Given the description of an element on the screen output the (x, y) to click on. 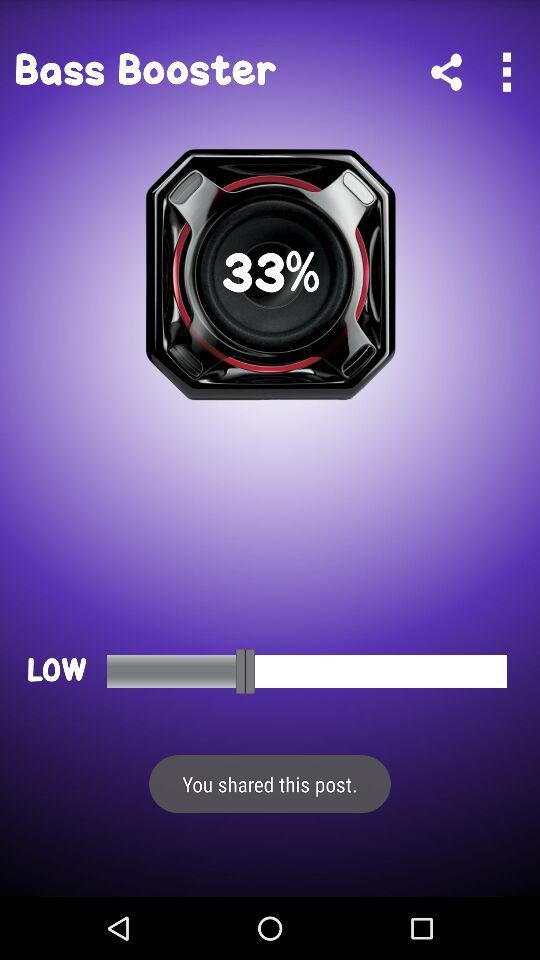
share (446, 72)
